Given the description of an element on the screen output the (x, y) to click on. 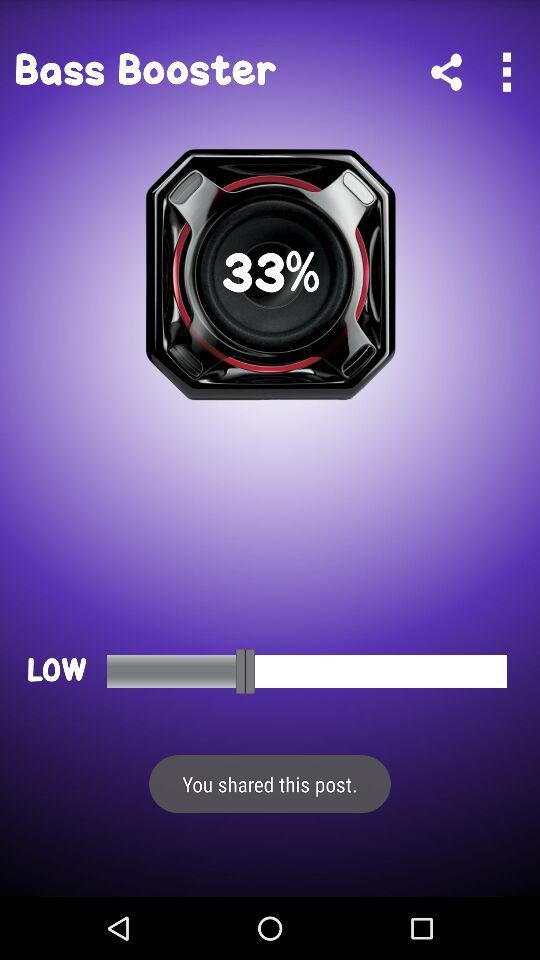
share (446, 72)
